Given the description of an element on the screen output the (x, y) to click on. 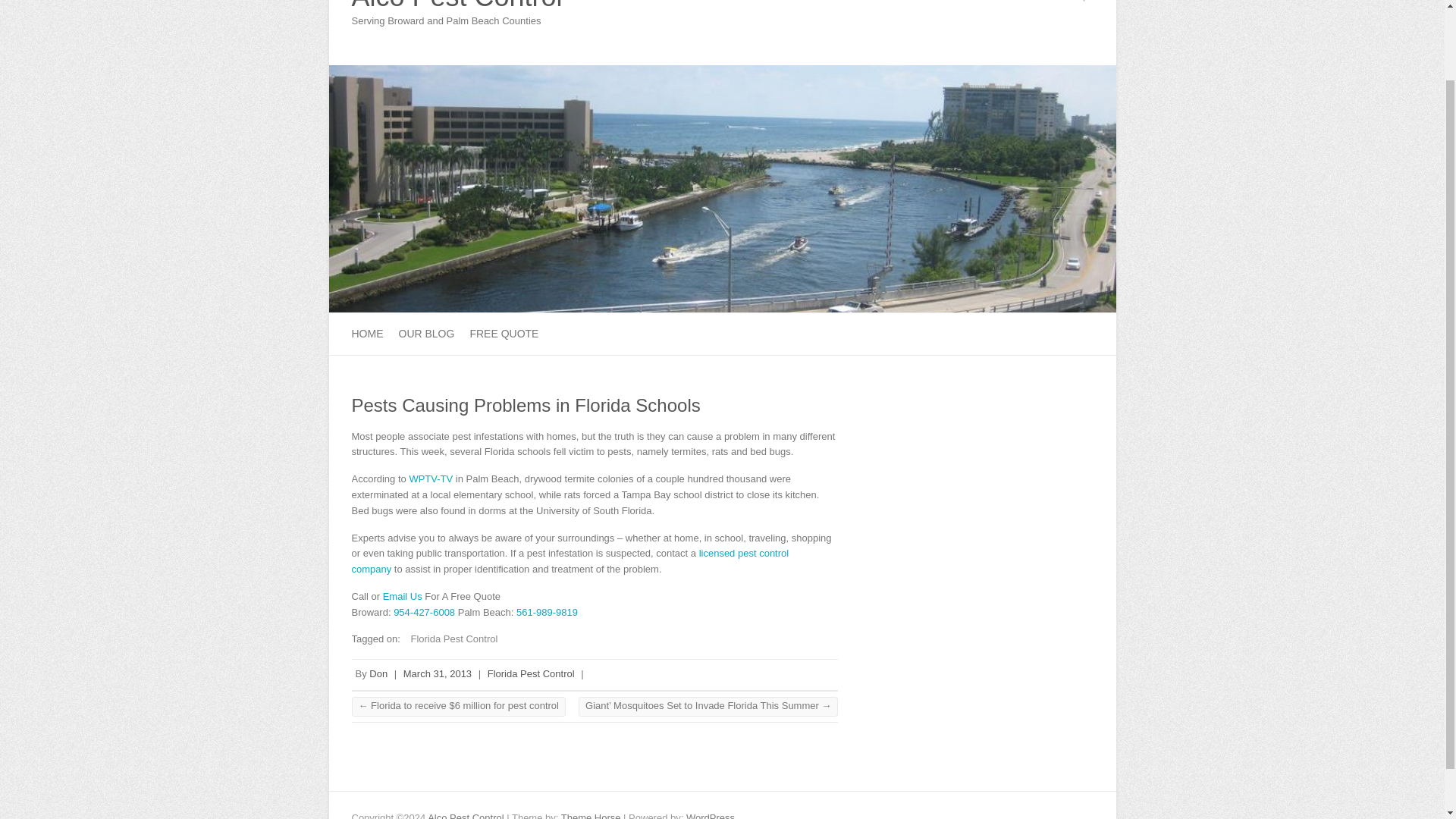
license Florida pest control (570, 560)
Florida Pest Control (531, 673)
licensed pest control company (570, 560)
Alco Pest Control (457, 7)
Alco Pest Control (722, 71)
Alco Pest Control (457, 7)
WPTV-TV (430, 478)
OUR BLOG (426, 333)
March 31, 2013 (437, 673)
561-989-9819 (547, 612)
